Given the description of an element on the screen output the (x, y) to click on. 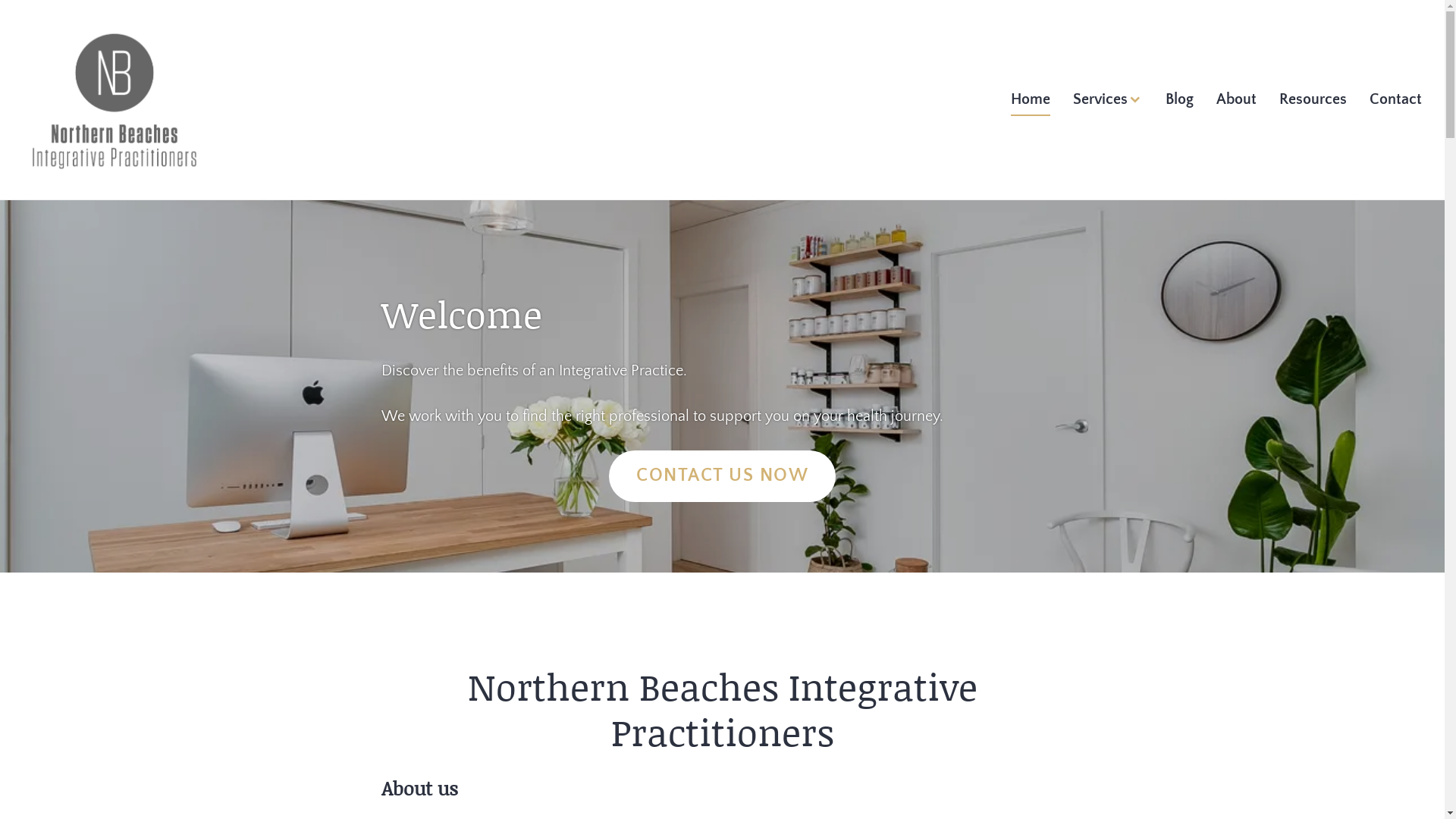
Services Element type: text (1107, 100)
Blog Element type: text (1179, 100)
Home Element type: text (1030, 100)
Resources Element type: text (1312, 100)
Northern Beaches Integrative Practitioners Element type: text (212, 197)
Contact Element type: text (1395, 100)
CONTACT US NOW Element type: text (721, 476)
About Element type: text (1236, 100)
